Given the description of an element on the screen output the (x, y) to click on. 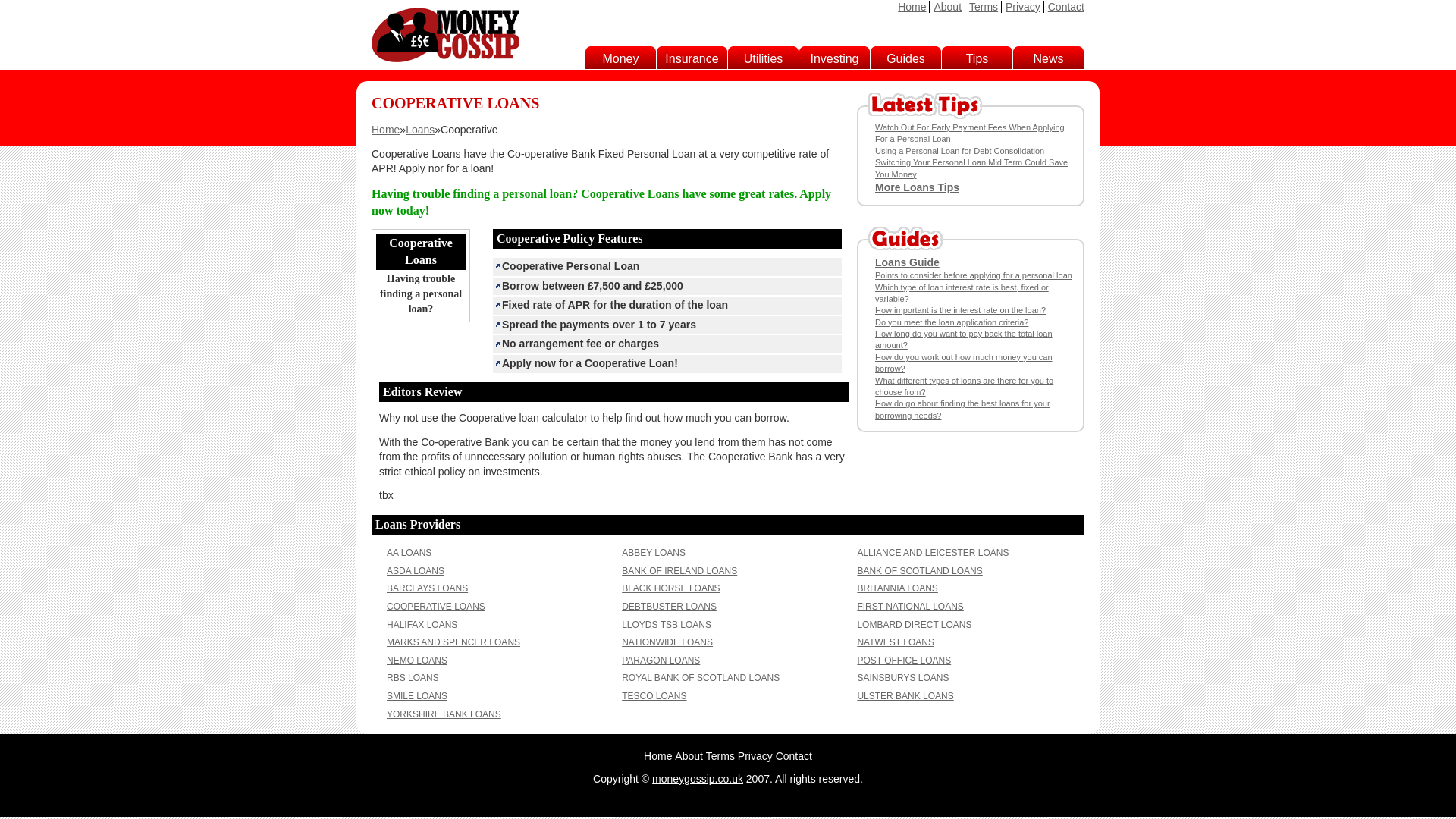
BANK OF IRELAND LOANS (678, 570)
BARCLAYS LOANS (427, 588)
Which type of loan interest rate is best, fixed or variable? (961, 292)
Privacy (1023, 6)
News (1048, 58)
ALLIANCE AND LEICESTER LOANS (933, 552)
BANK OF SCOTLAND LOANS (919, 570)
ABBEY LOANS (653, 552)
How do you work out how much money you can borrow? (963, 362)
ASDA LOANS (415, 570)
Points to consider before applying for a personal loan (973, 275)
DEBTBUSTER LOANS (668, 606)
Guides (905, 58)
